Given the description of an element on the screen output the (x, y) to click on. 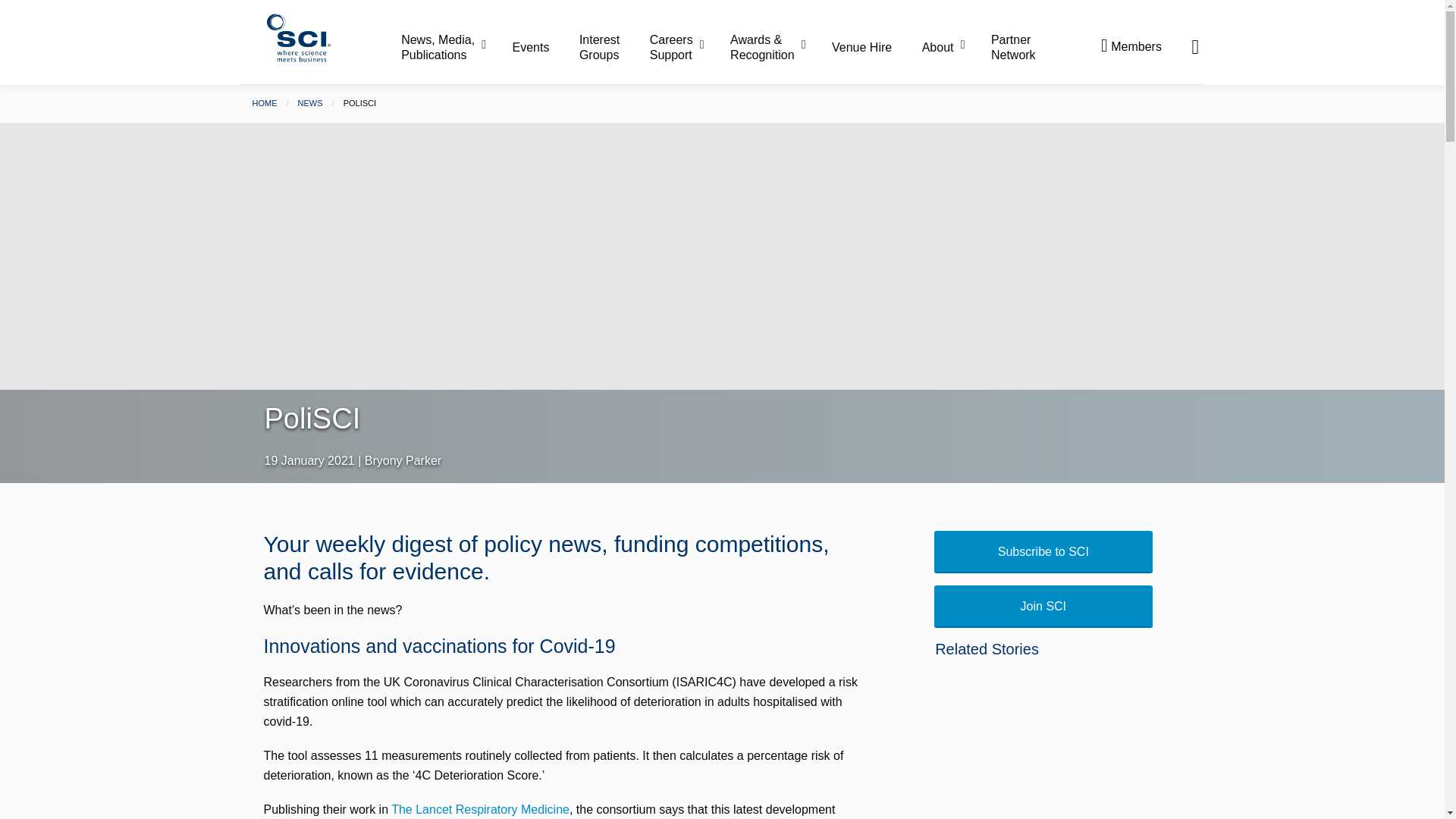
About (954, 47)
Interest Groups (612, 47)
Careers Support (687, 47)
Partner Network (1013, 47)
News, Media, Publications (454, 47)
Venue Hire (874, 47)
Events (544, 47)
